Given the description of an element on the screen output the (x, y) to click on. 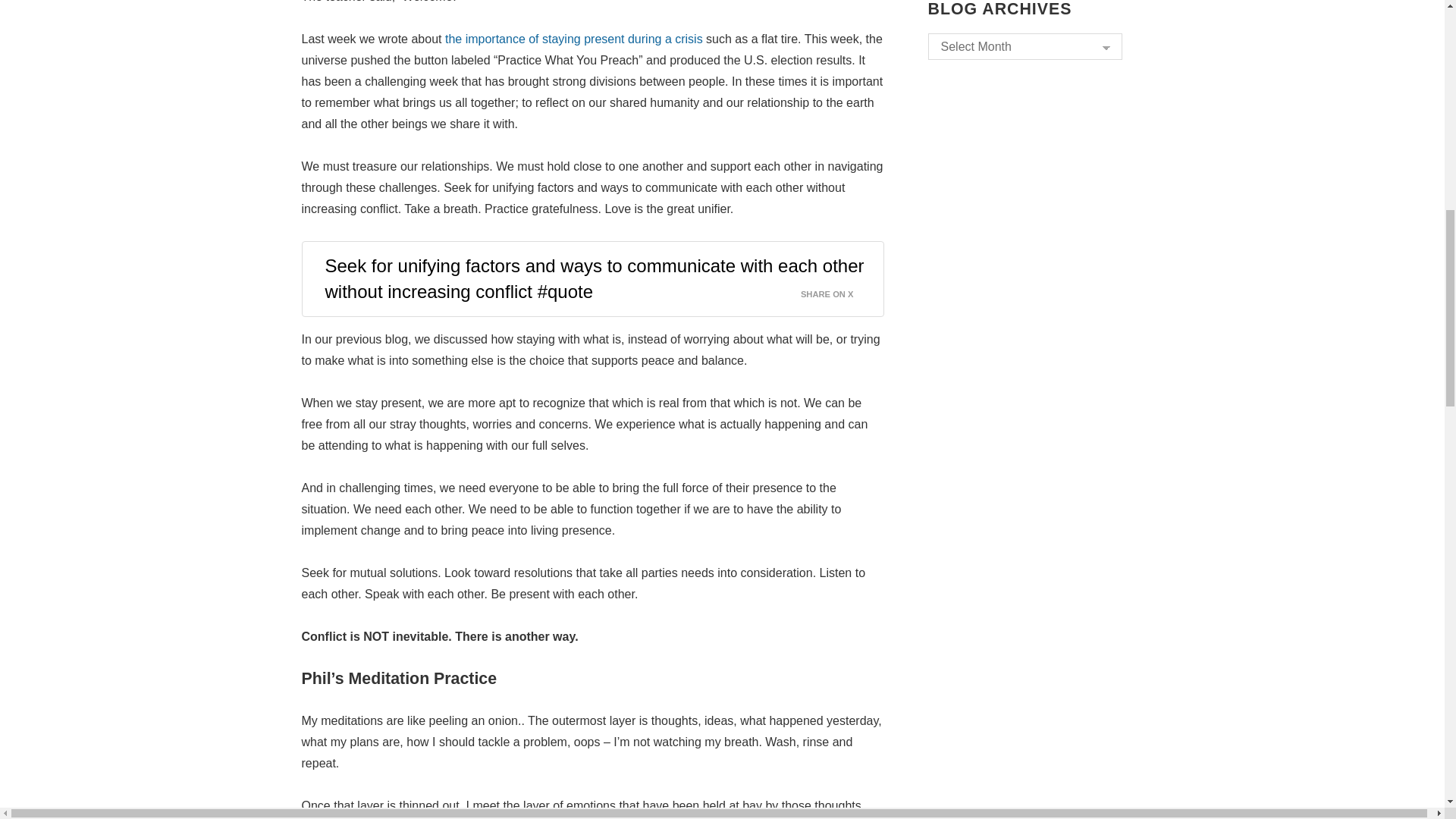
the importance of staying present during a crisis (574, 38)
SHARE ON X (836, 290)
